Given the description of an element on the screen output the (x, y) to click on. 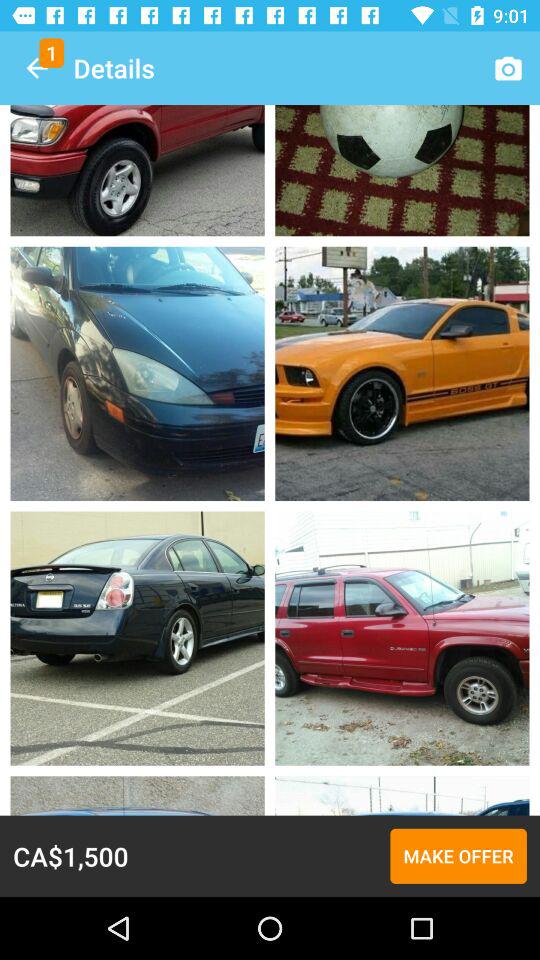
tap make offer icon (458, 855)
